Given the description of an element on the screen output the (x, y) to click on. 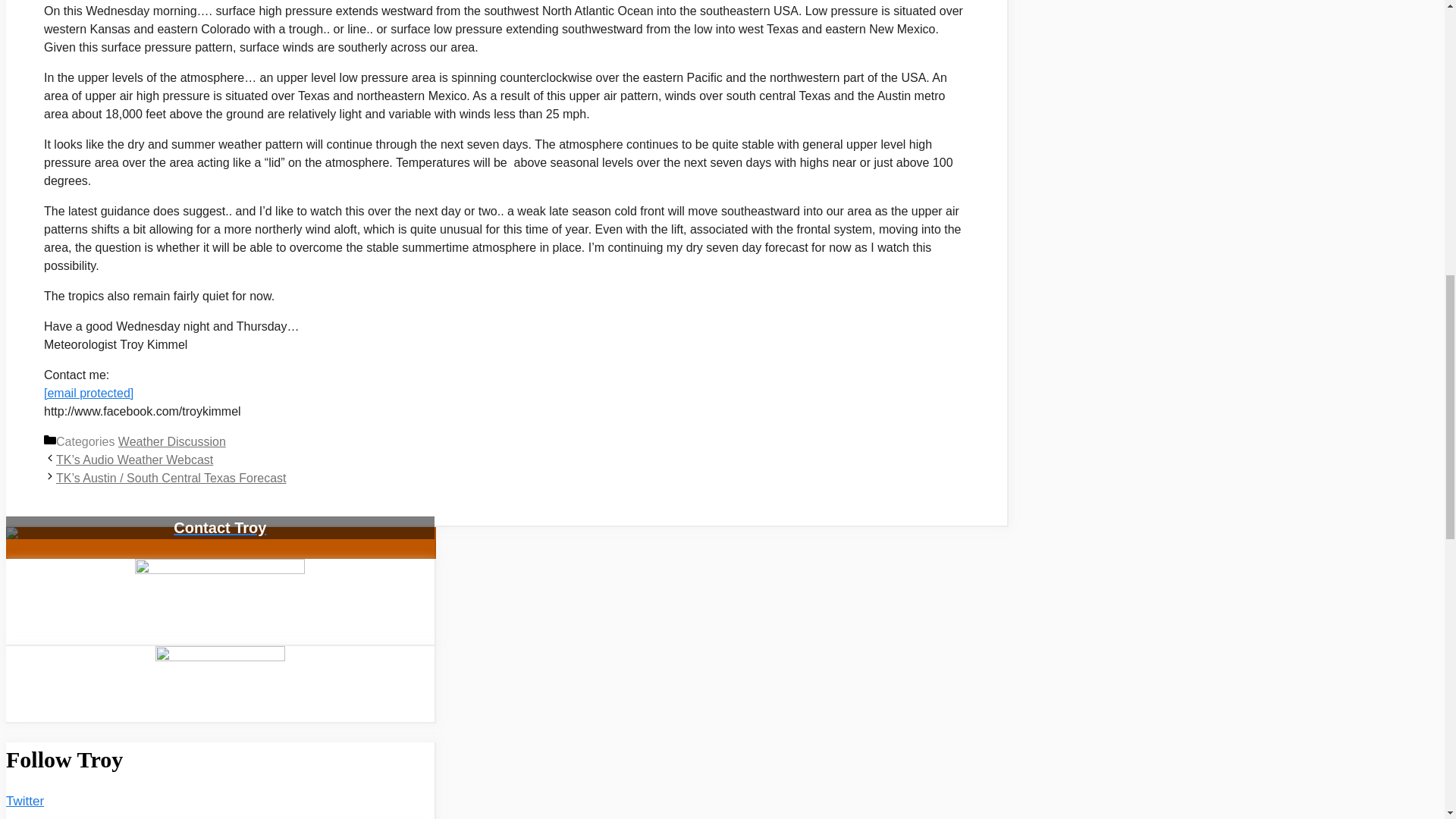
Contact Troy (219, 552)
Weather Discussion (171, 440)
Twitter (24, 800)
